Given the description of an element on the screen output the (x, y) to click on. 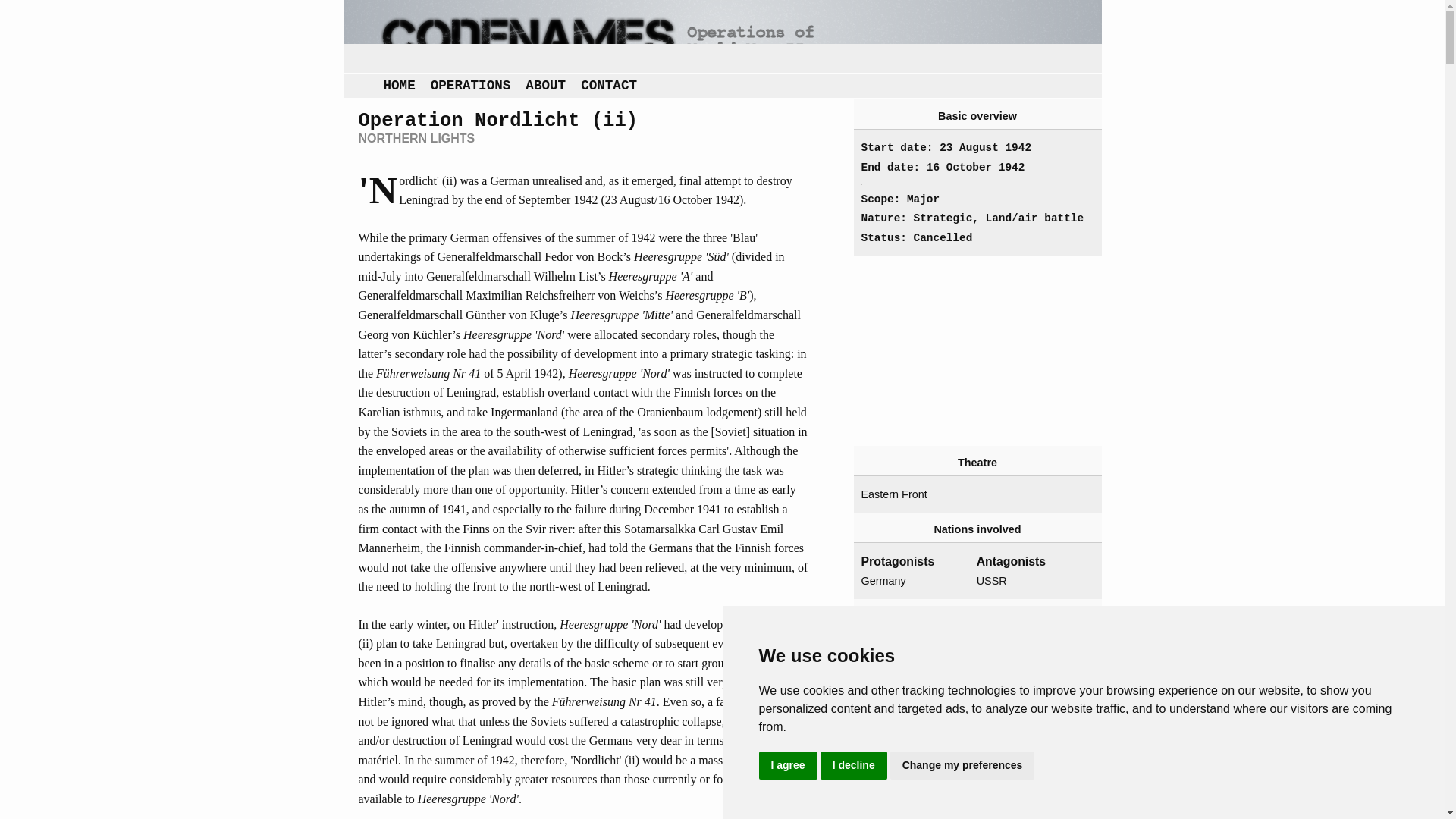
HOME (399, 86)
Home (399, 86)
Eastern Front (913, 495)
ABOUT (545, 86)
USSR (1028, 581)
Germany (913, 581)
OPERATIONS (470, 86)
Contact (609, 86)
German 11th Army (913, 792)
Lindemann, Georg (913, 668)
